Given the description of an element on the screen output the (x, y) to click on. 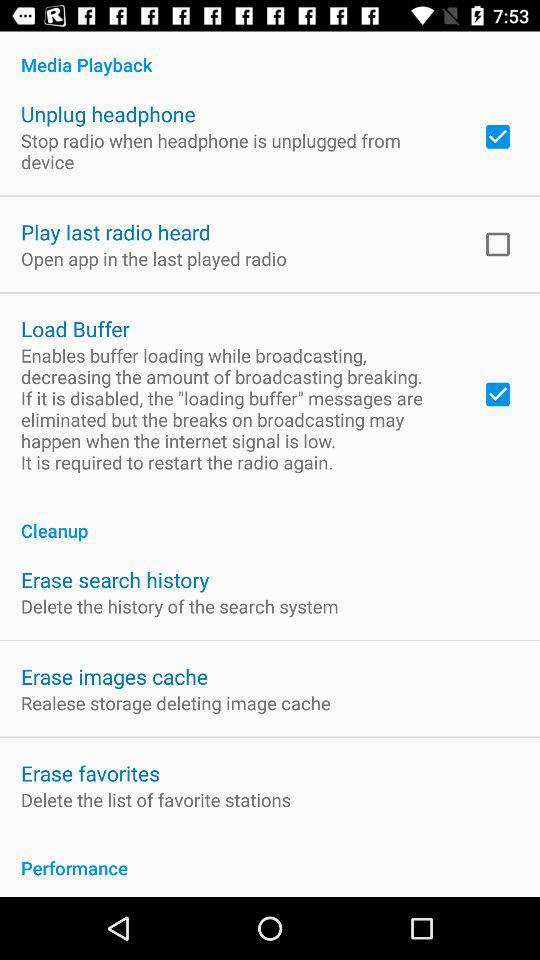
swipe to the stop radio when icon (238, 151)
